Given the description of an element on the screen output the (x, y) to click on. 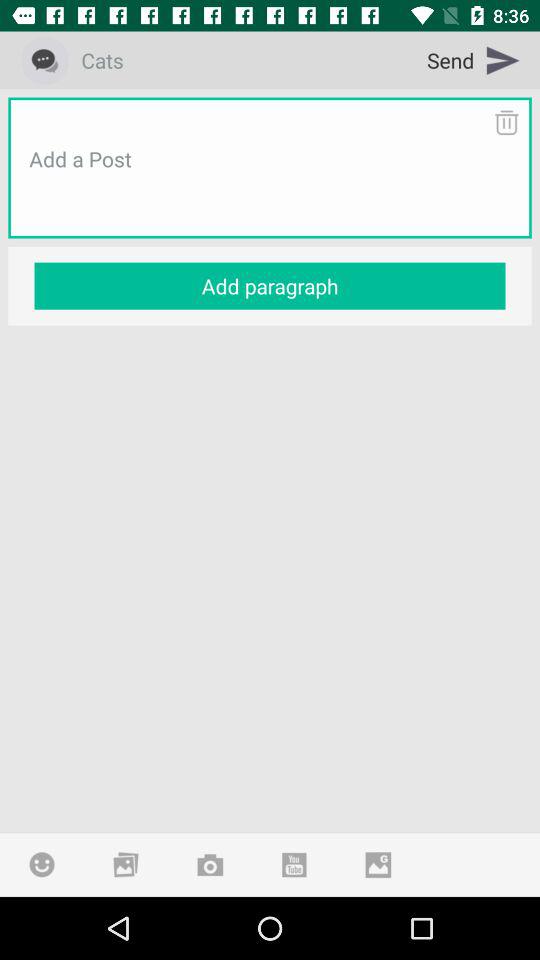
opens up your photo album on an android phone (126, 864)
